Given the description of an element on the screen output the (x, y) to click on. 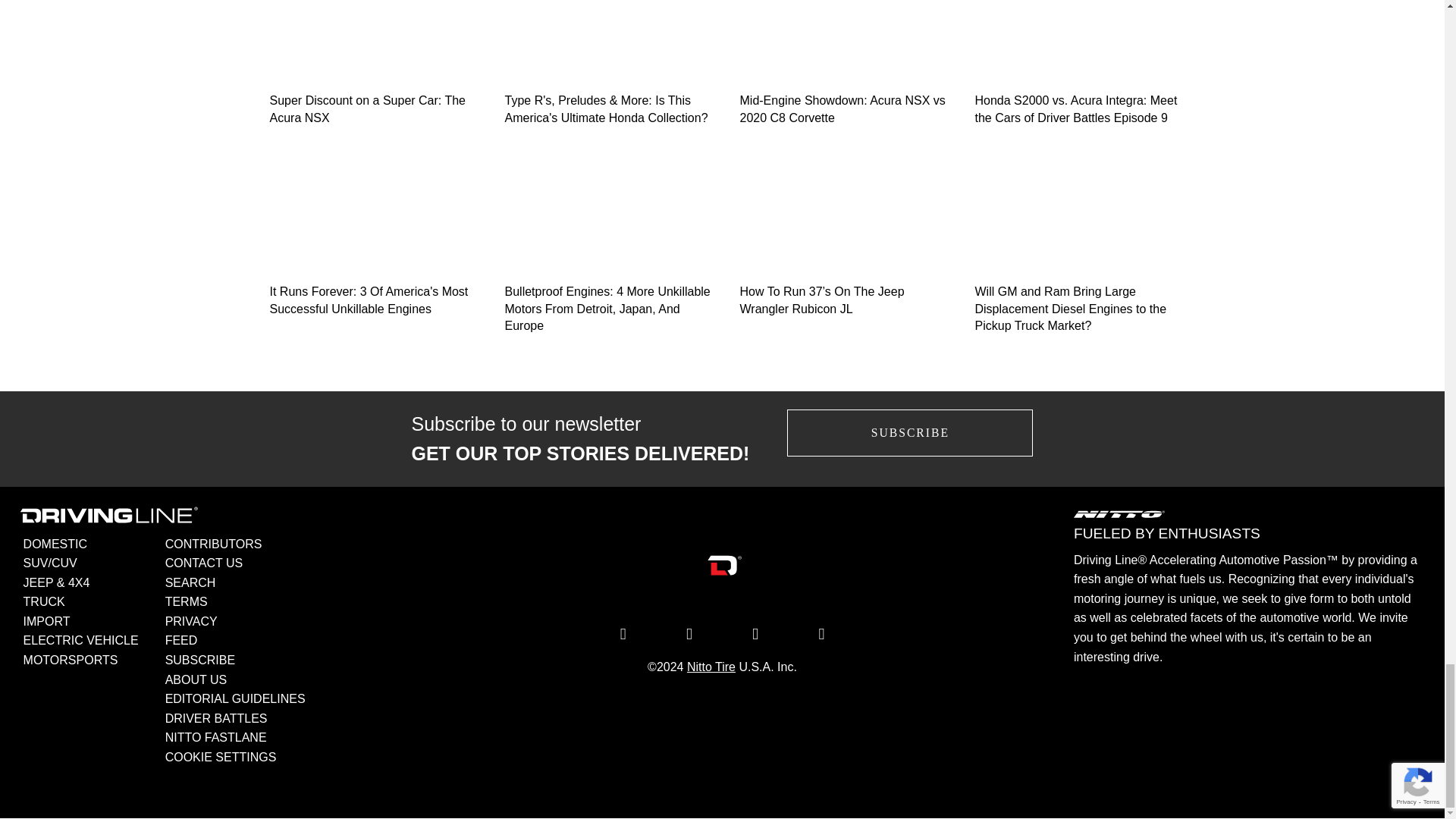
Super Discount on a Super Car: The Acura NSX (369, 65)
Mid-Engine Showdown: Acura NSX vs 2020 C8 Corvette (839, 65)
